Given the description of an element on the screen output the (x, y) to click on. 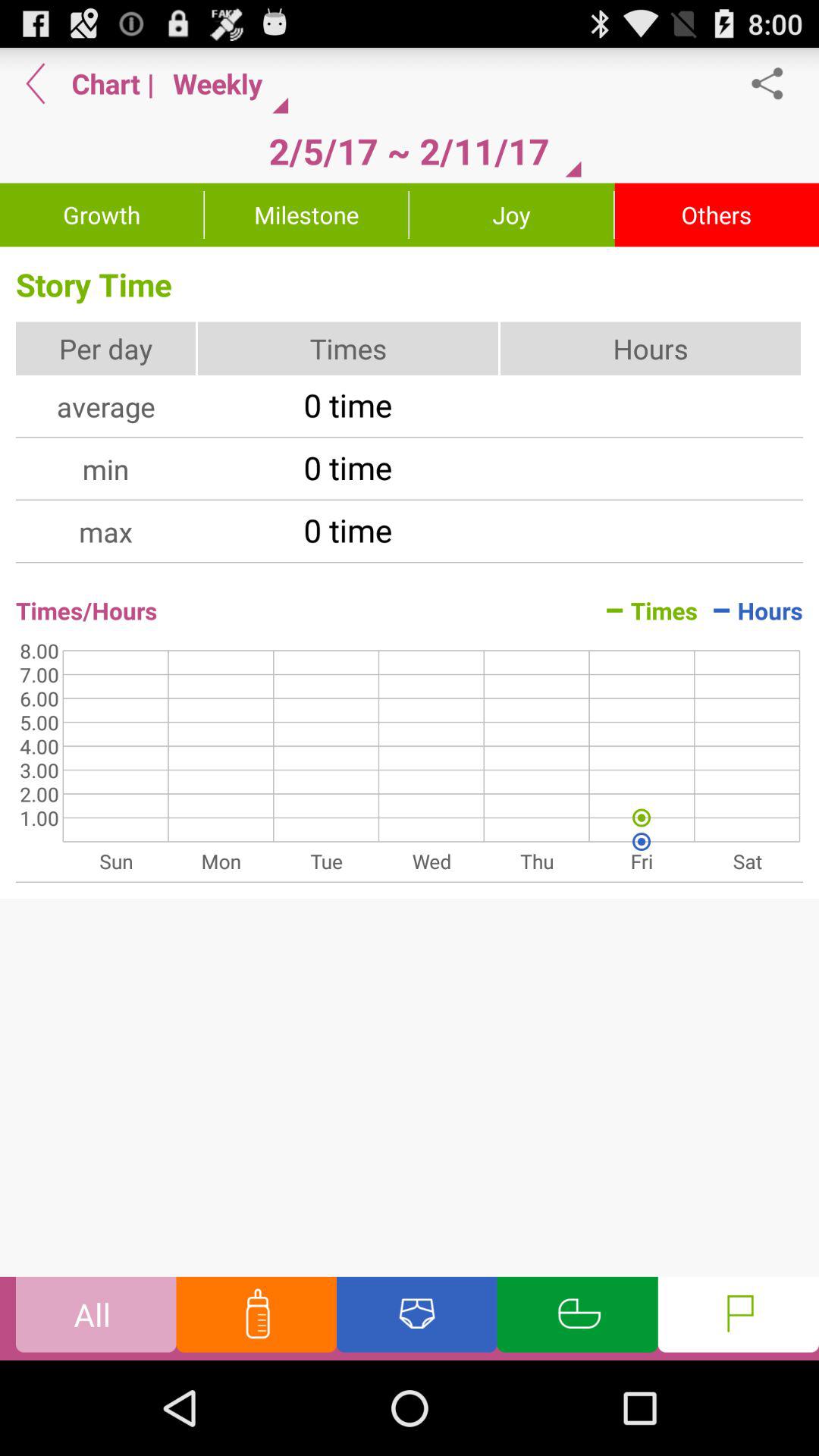
feed (256, 1318)
